Given the description of an element on the screen output the (x, y) to click on. 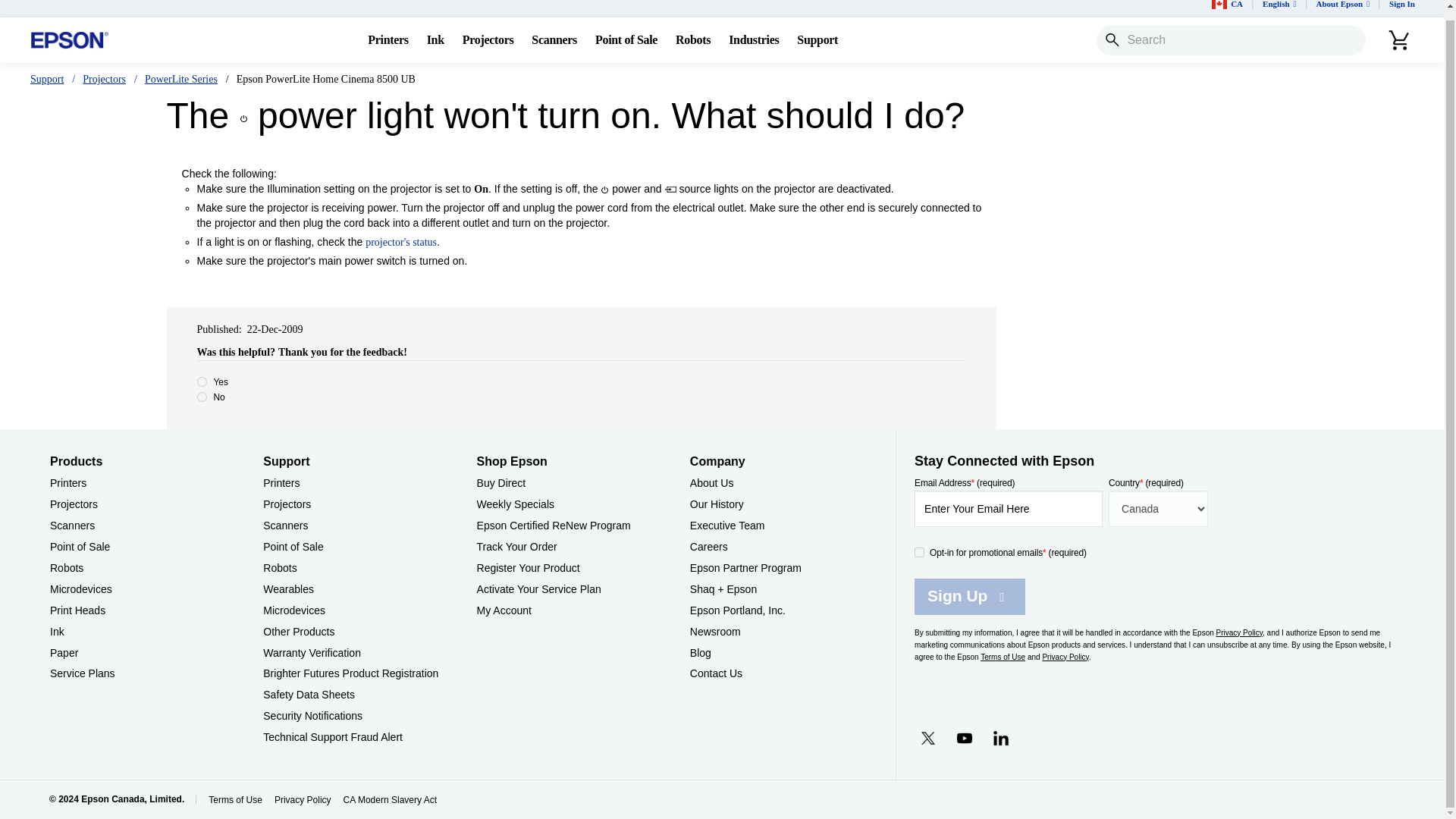
CA (1227, 8)
English (1279, 8)
About Epson (1342, 8)
yes (201, 381)
on (919, 552)
CA (1227, 8)
Sign In (1401, 8)
English (1279, 8)
Sign In (1401, 8)
Epson Logo (69, 40)
